Given the description of an element on the screen output the (x, y) to click on. 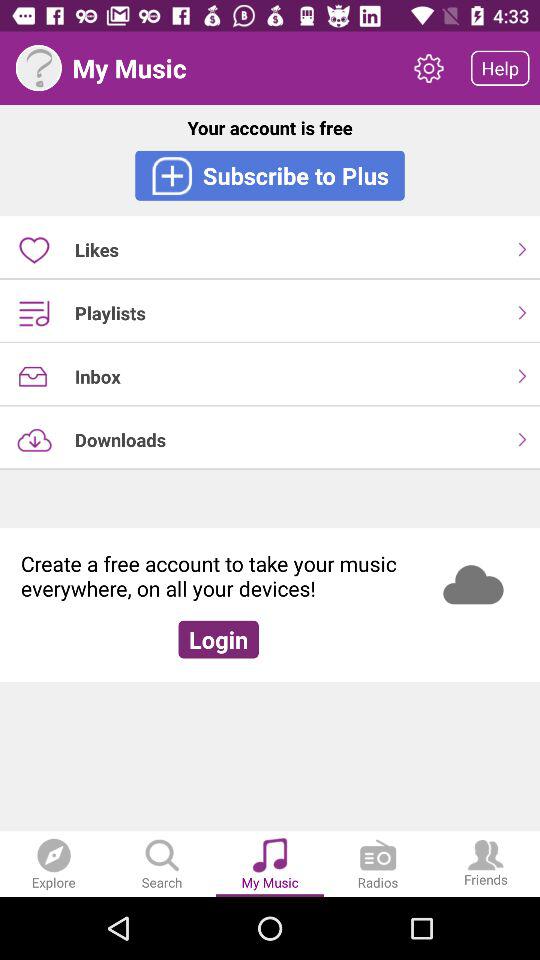
launch the icon next to the help icon (428, 67)
